Given the description of an element on the screen output the (x, y) to click on. 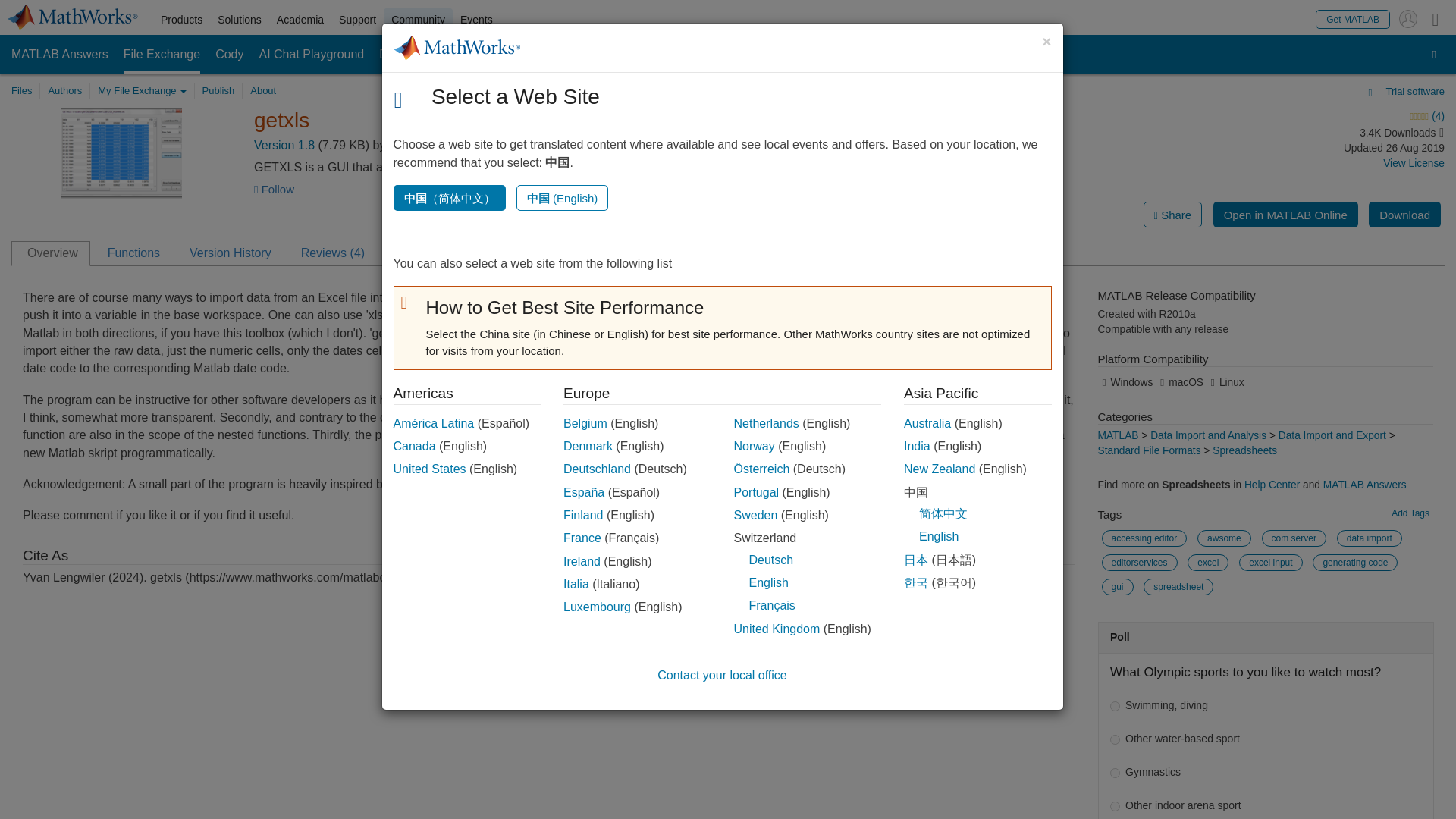
4.80 out of 5 stars (1303, 116)
Sign In to Your MathWorks Account (1407, 18)
Products (180, 19)
Download (1404, 214)
Events (476, 19)
Academia (300, 19)
Solutions (239, 19)
Community (418, 19)
Get MATLAB (1353, 18)
Support (357, 19)
